Given the description of an element on the screen output the (x, y) to click on. 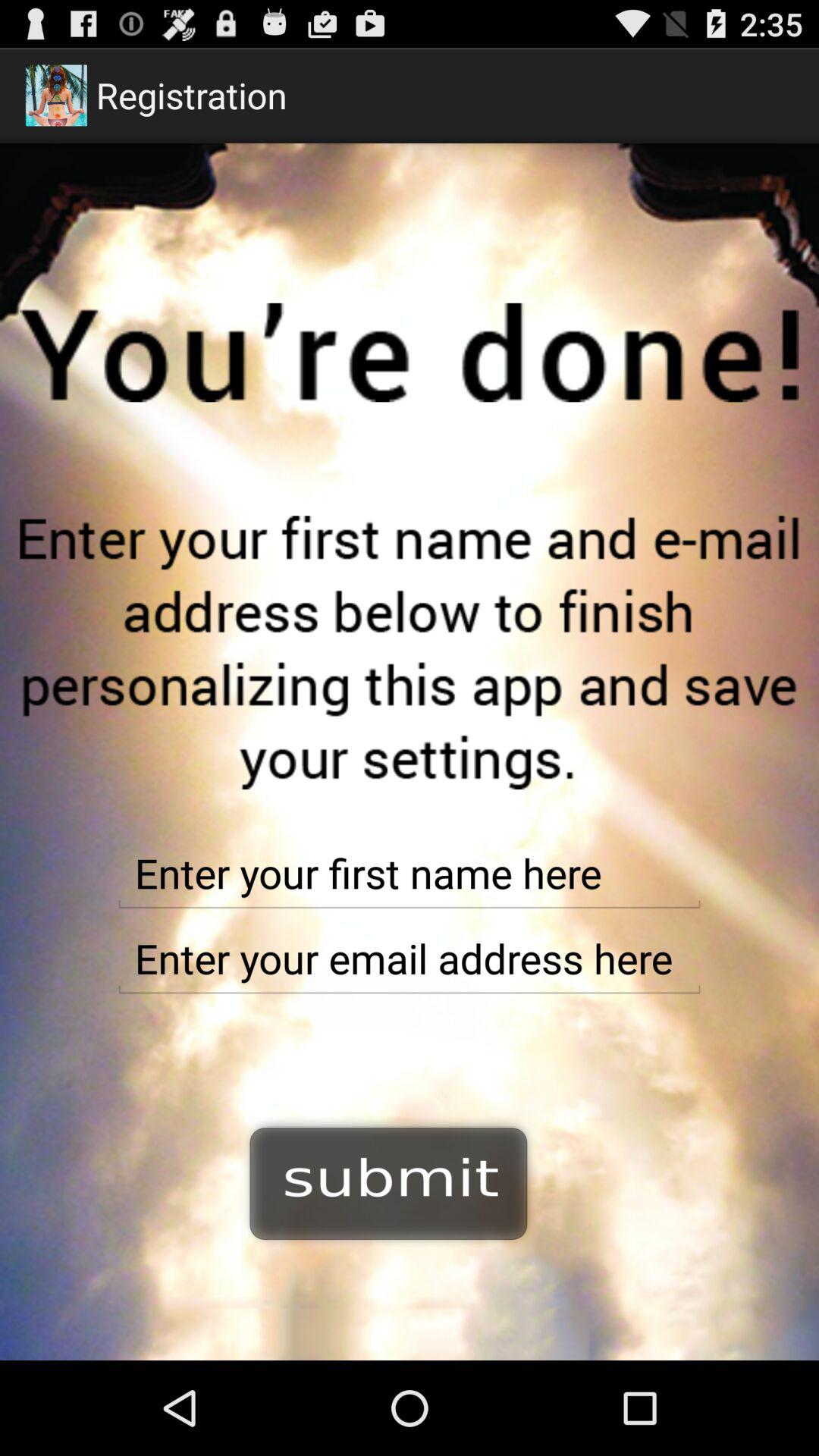
it is mail address (409, 958)
